Given the description of an element on the screen output the (x, y) to click on. 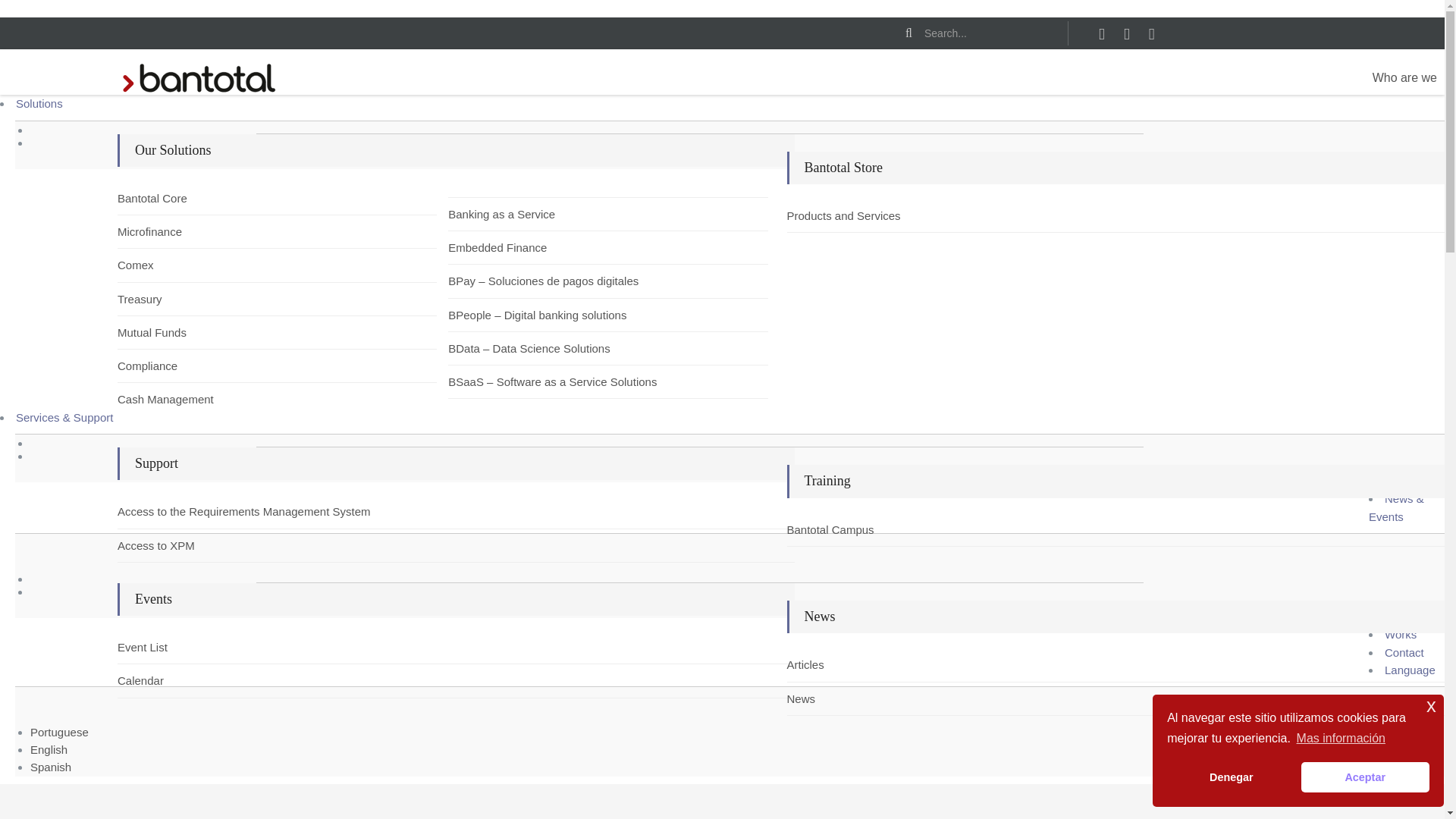
Bantotal Core (162, 198)
Microfinance (162, 231)
Access to the Requirements Management System (162, 511)
Cash Management (162, 398)
Treasury (162, 298)
Compliance (162, 365)
Products and Services (832, 215)
Banking as a Service (493, 213)
Calendar (162, 680)
Access to XPM (162, 545)
Mutual Funds (162, 332)
Solutions (39, 103)
Articles (832, 664)
Language (1409, 669)
Embedded Finance (493, 247)
